Given the description of an element on the screen output the (x, y) to click on. 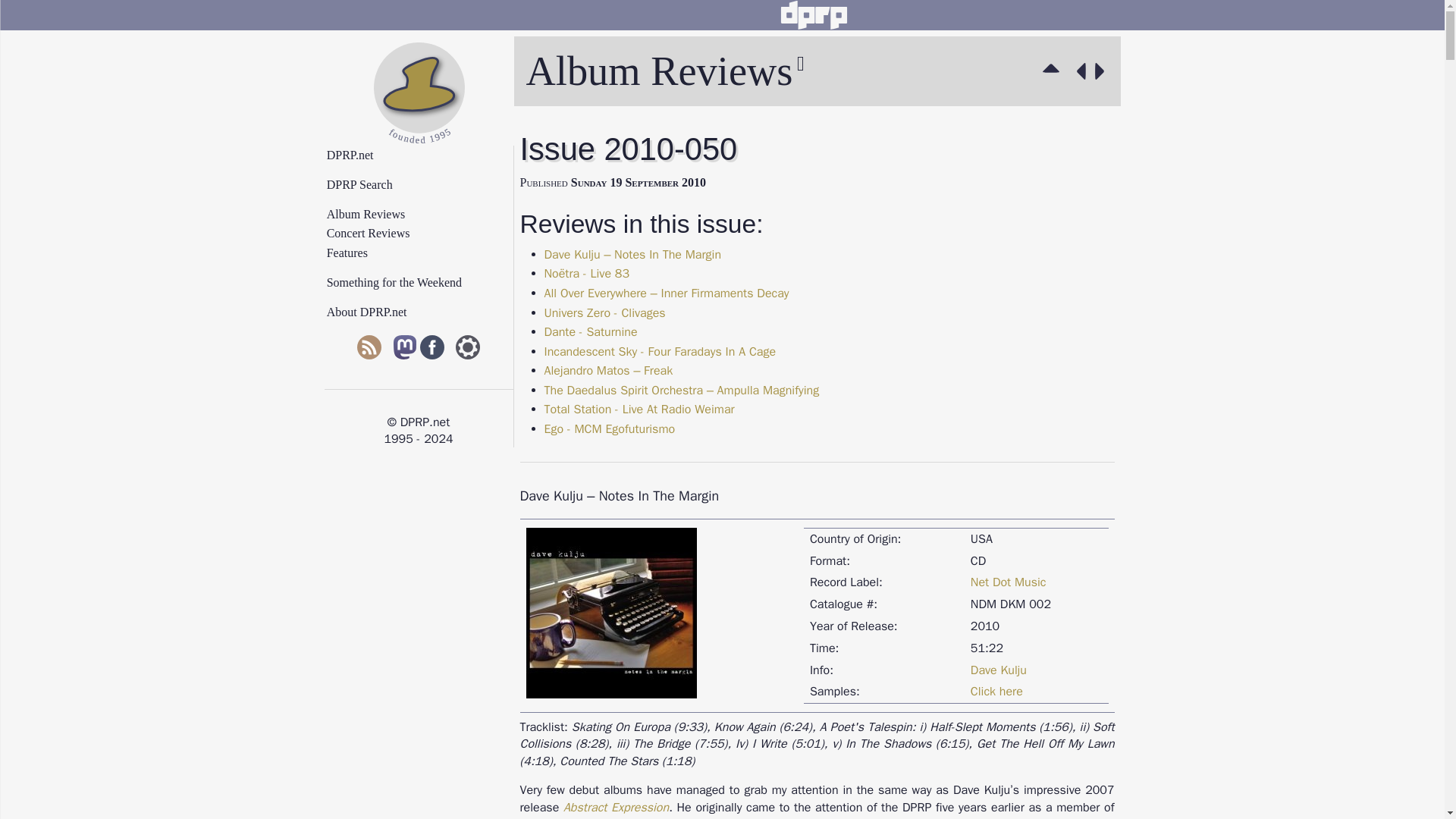
Brian Watson (666, 293)
Bob Mulvey (660, 351)
Geoff Feakes (633, 254)
Album Reviews (424, 214)
Something for the Weekend (424, 283)
Erik Laan (608, 370)
Gert Hulshof (590, 331)
Album Reviews (1053, 70)
John O'Boyle (604, 312)
Gert Hulshof (681, 390)
Net Dot Music (1008, 581)
Univers Zero - Clivages (604, 312)
About DPRP.net (424, 312)
Incandescent Sky - Four Faradays In A Cage (660, 351)
DPRP Search (424, 184)
